Given the description of an element on the screen output the (x, y) to click on. 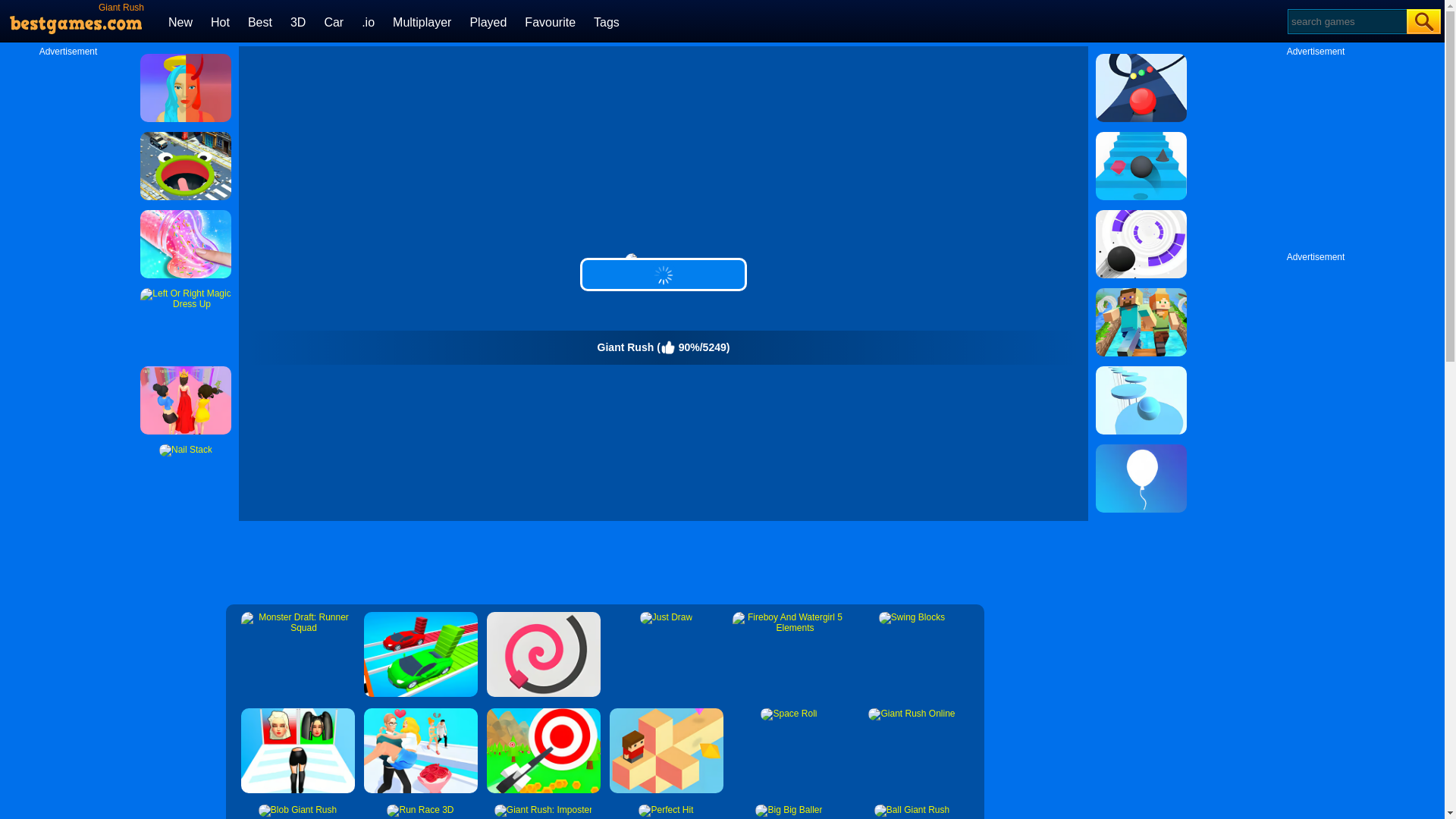
Car (333, 21)
Tags (607, 21)
Played (487, 21)
New (180, 21)
Hot (220, 21)
Multiplayer (422, 21)
Best (259, 21)
Favourite (549, 21)
3D (297, 21)
.io (367, 21)
